Given the description of an element on the screen output the (x, y) to click on. 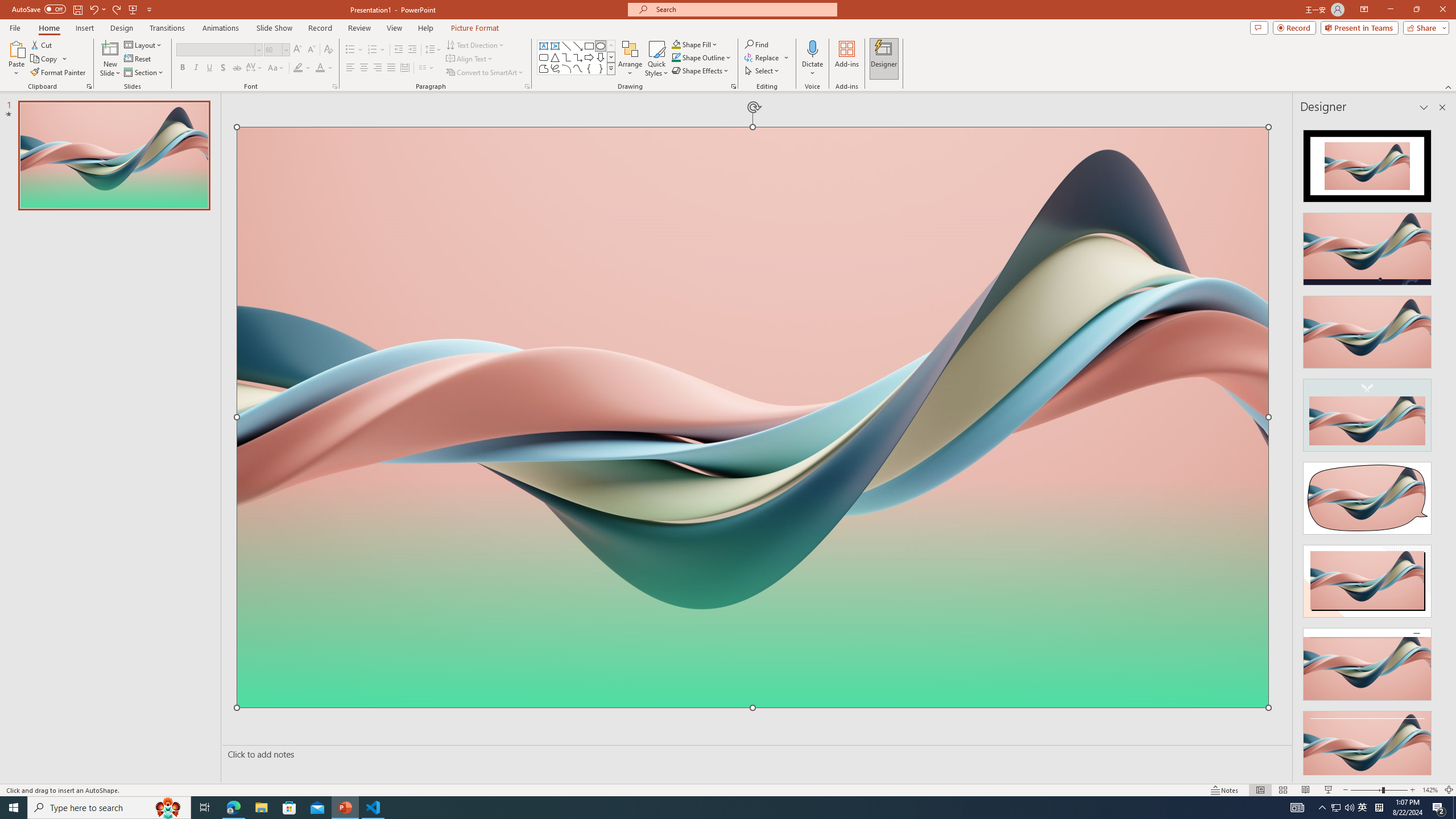
Shape Fill Orange, Accent 2 (675, 44)
Wavy 3D art (752, 417)
